Given the description of an element on the screen output the (x, y) to click on. 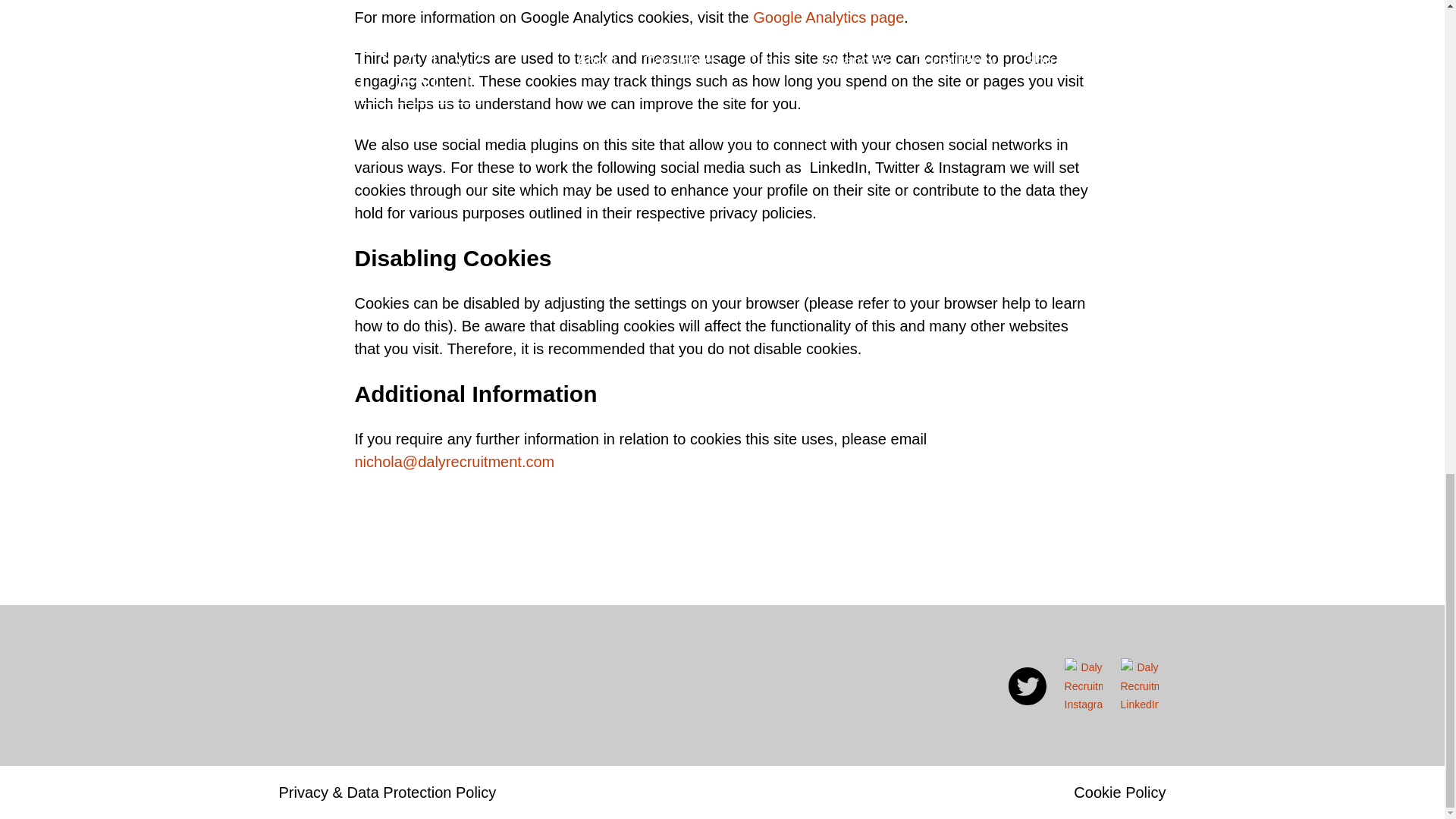
Cookie Policy (1120, 791)
Cookie Policy (1120, 791)
Google Analytics page (828, 17)
